Given the description of an element on the screen output the (x, y) to click on. 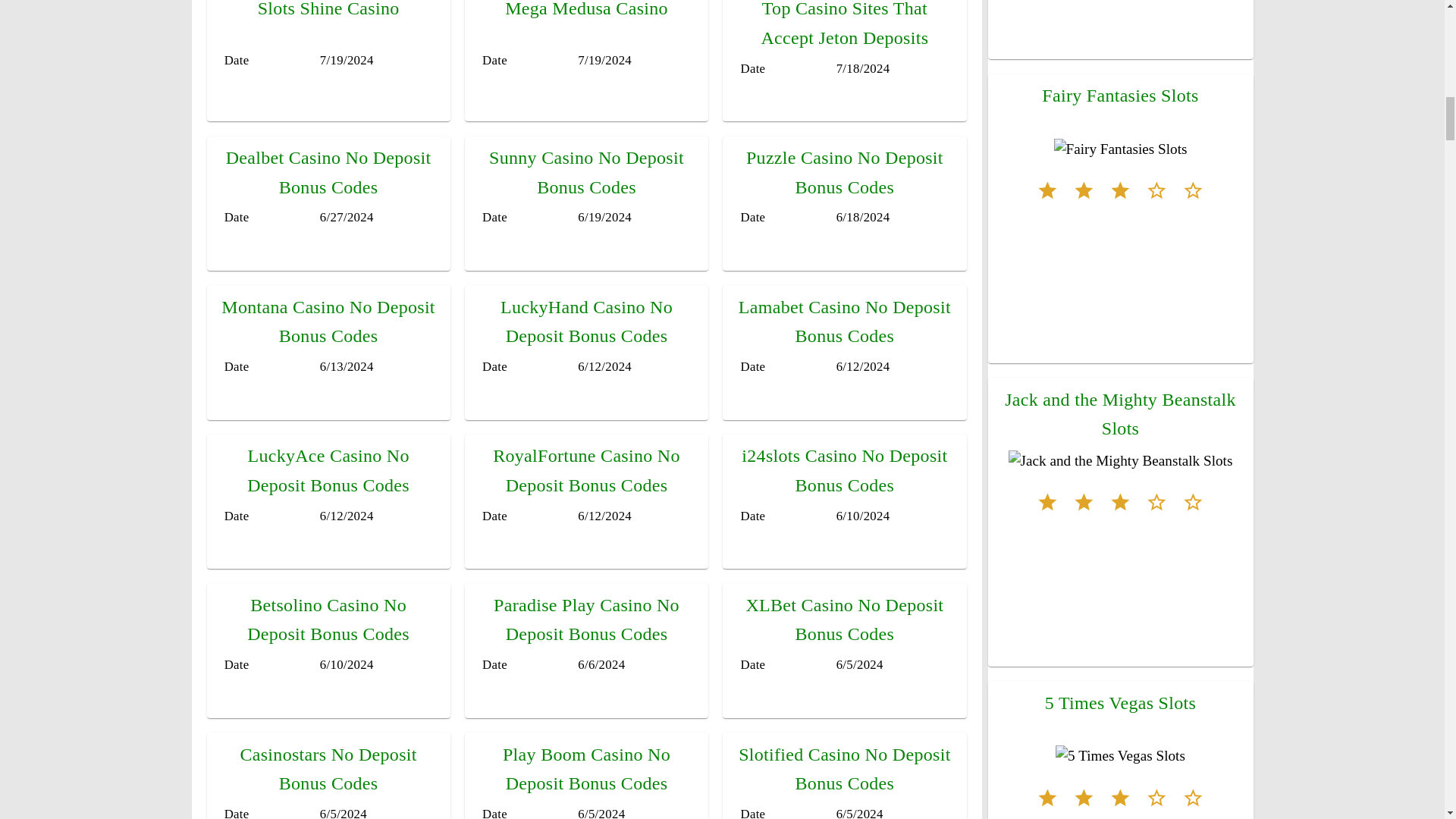
Top Casino Sites That Accept Jeton Deposits (844, 23)
Lamabet Casino No Deposit Bonus Codes (844, 321)
XLBet Casino No Deposit Bonus Codes (844, 619)
LuckyHand Casino No Deposit Bonus Codes (586, 321)
Puzzle Casino No Deposit Bonus Codes (844, 172)
RoyalFortune Casino No Deposit Bonus Codes (586, 469)
LuckyAce Casino No Deposit Bonus Codes (328, 469)
Mega Medusa Casino (586, 9)
Casinostars No Deposit Bonus Codes (328, 768)
Dealbet Casino No Deposit Bonus Codes (327, 172)
